Given the description of an element on the screen output the (x, y) to click on. 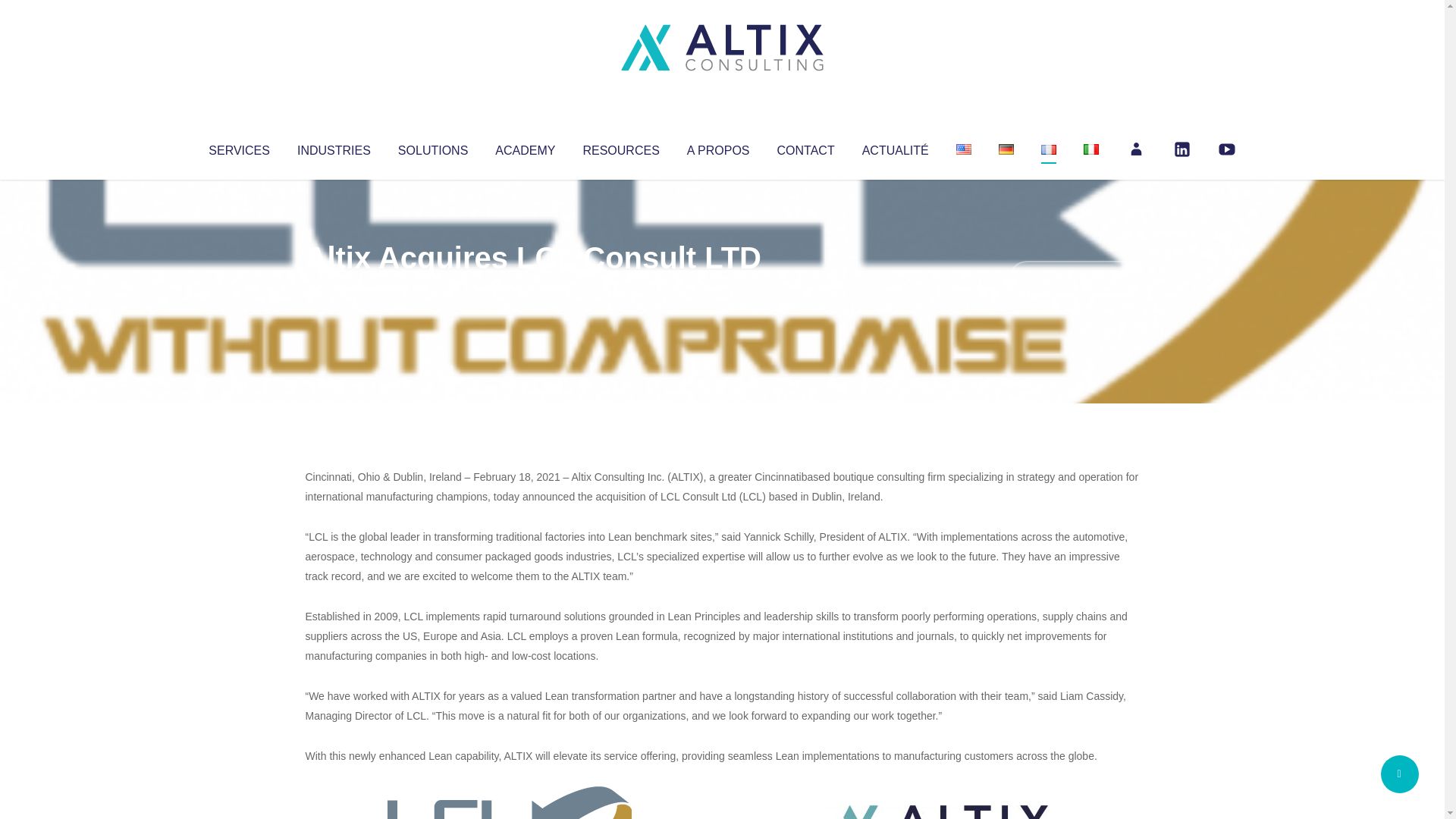
Uncategorized (530, 287)
ACADEMY (524, 146)
SOLUTIONS (432, 146)
RESOURCES (620, 146)
Altix (333, 287)
INDUSTRIES (334, 146)
Articles par Altix (333, 287)
A PROPOS (718, 146)
No Comments (1073, 278)
SERVICES (238, 146)
